Given the description of an element on the screen output the (x, y) to click on. 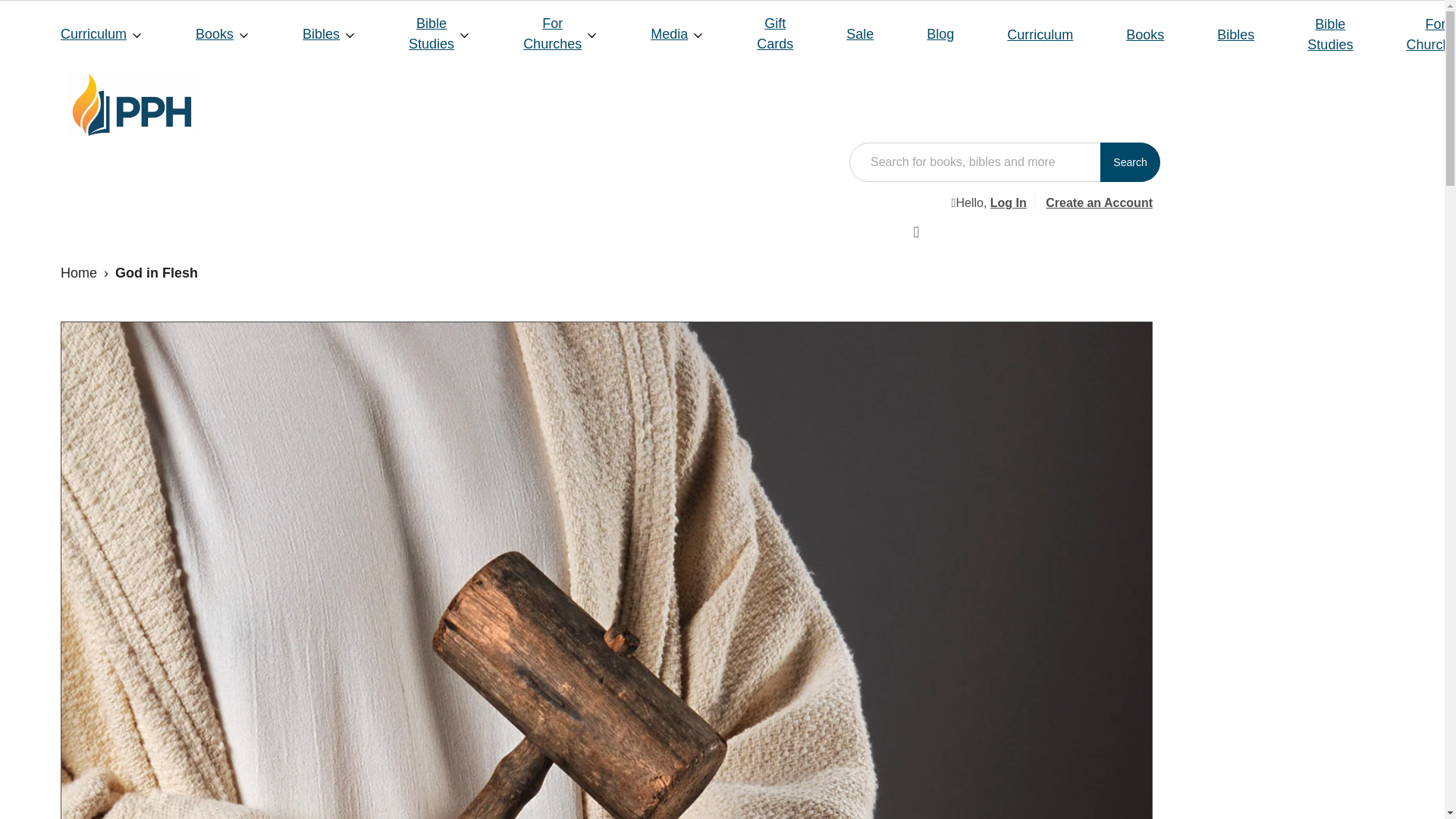
Home (79, 272)
Books (222, 33)
Curriculum (100, 33)
